Given the description of an element on the screen output the (x, y) to click on. 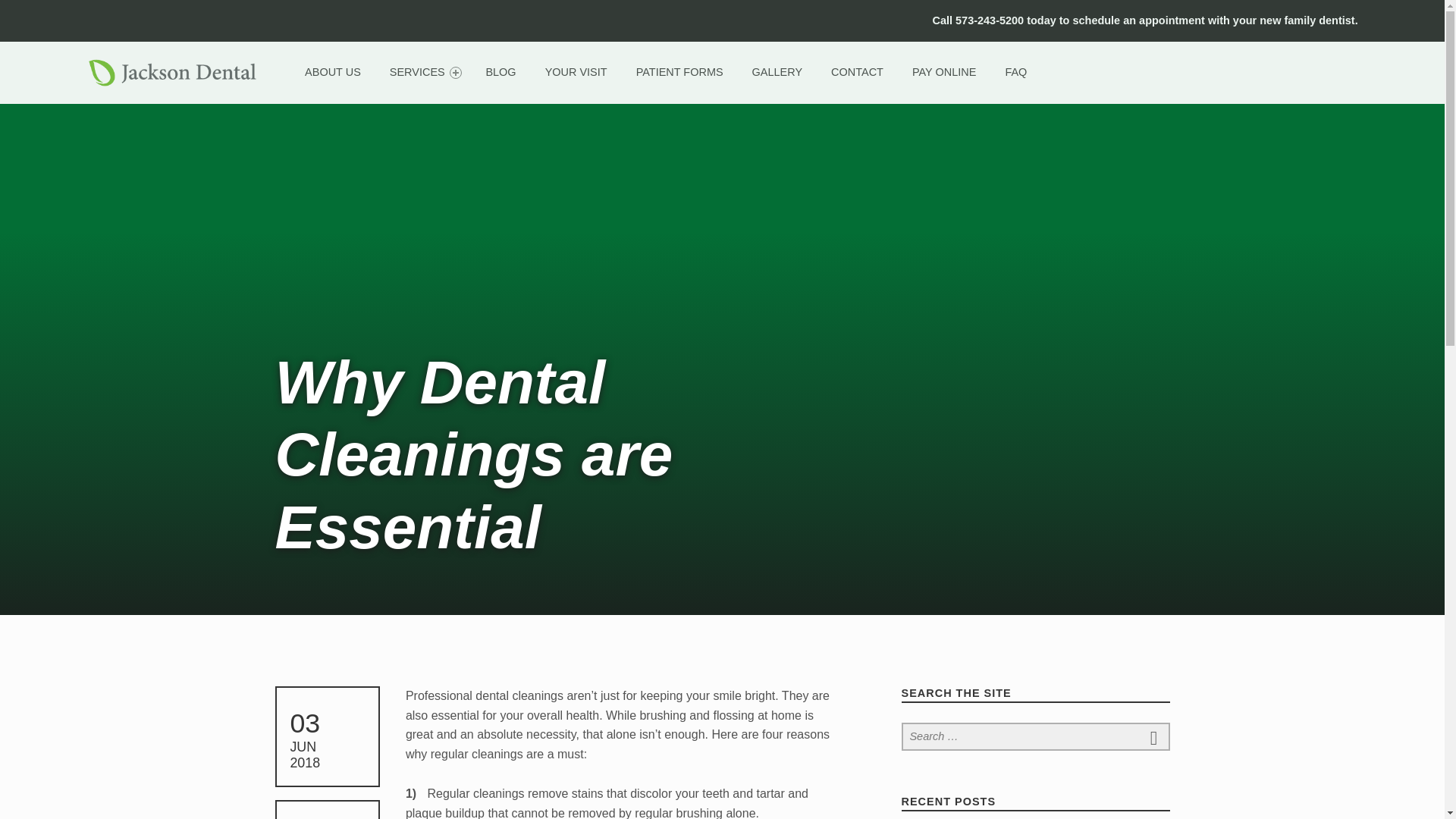
YOUR VISIT (576, 72)
ABOUT US (332, 72)
Search (1154, 736)
BLOG (500, 72)
FAQ (1016, 72)
PATIENT FORMS (679, 72)
SERVICES (422, 72)
GALLERY (777, 72)
PAY ONLINE (944, 72)
CONTACT (856, 72)
